Given the description of an element on the screen output the (x, y) to click on. 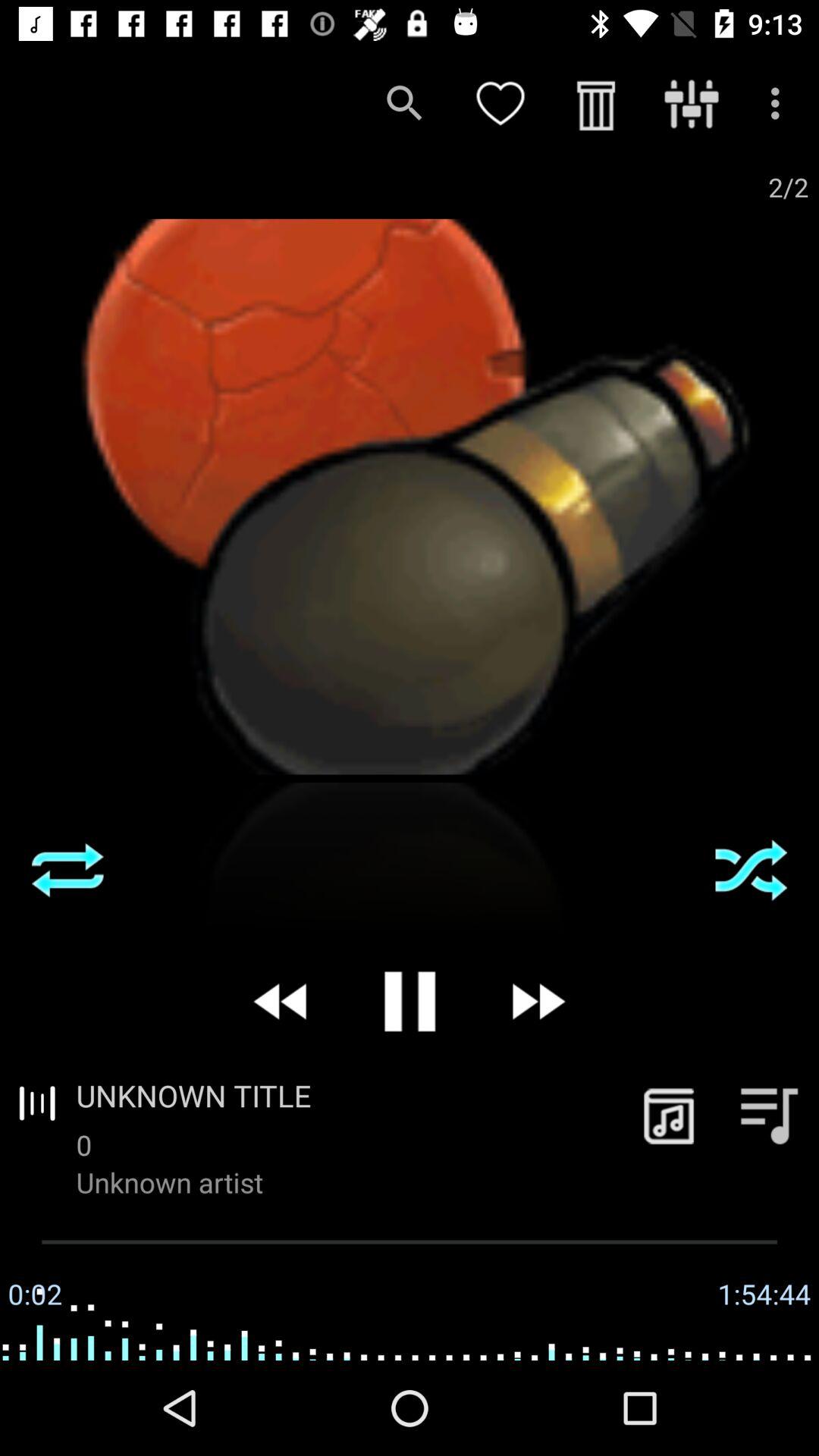
pause current song (409, 1001)
